Given the description of an element on the screen output the (x, y) to click on. 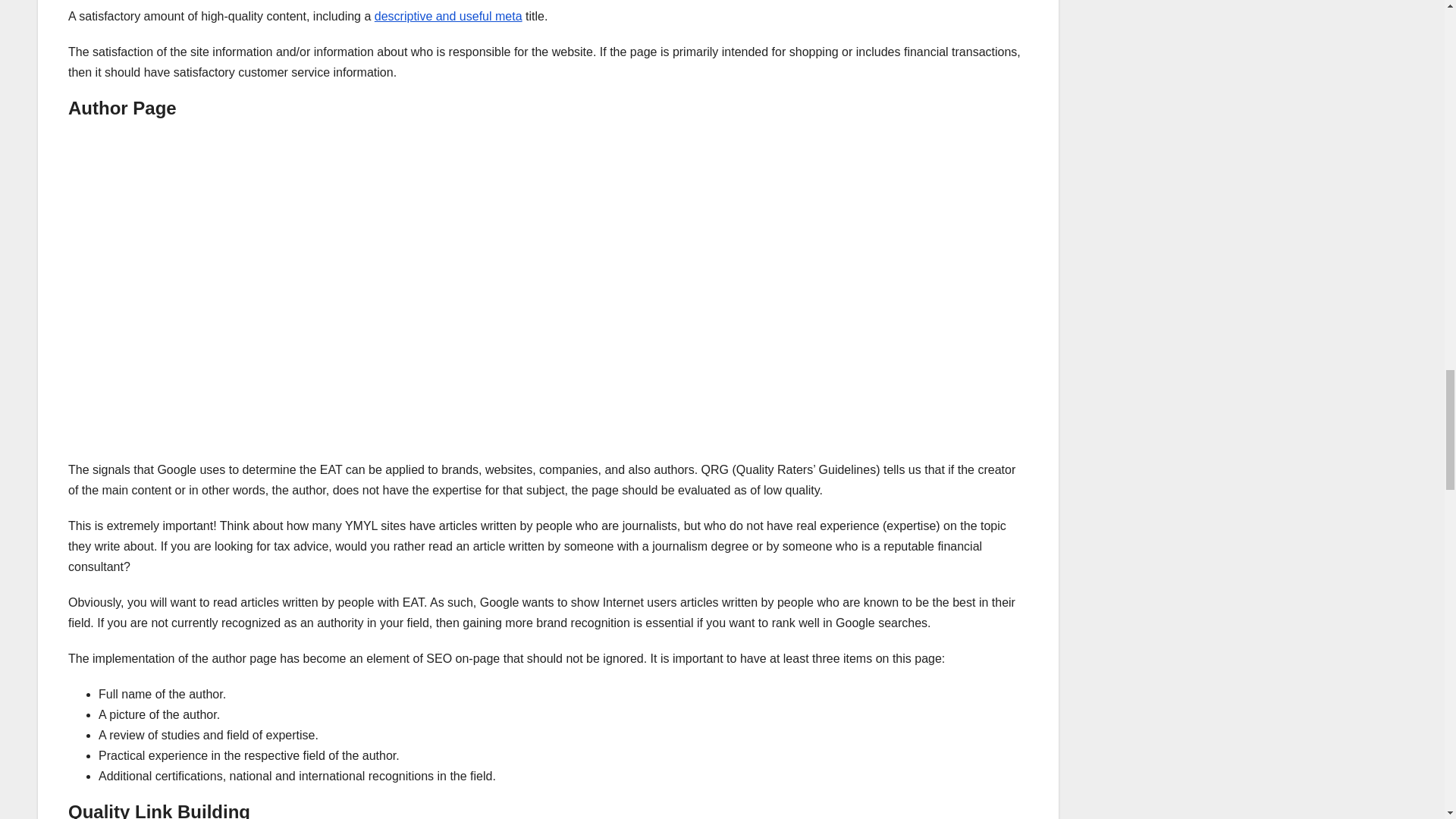
descriptive and useful meta (448, 15)
